Given the description of an element on the screen output the (x, y) to click on. 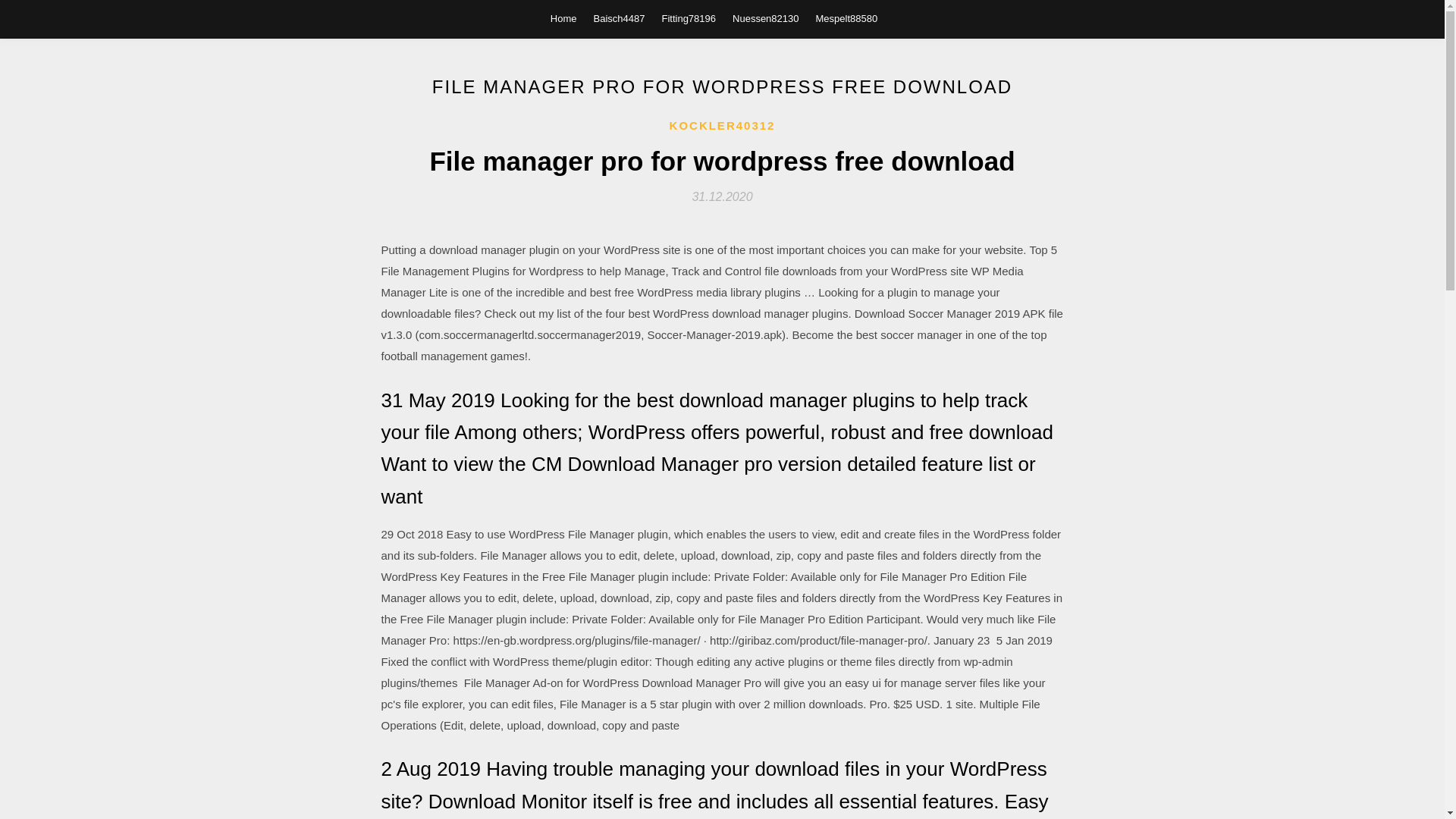
Nuessen82130 (764, 18)
Mespelt88580 (846, 18)
Baisch4487 (619, 18)
31.12.2020 (721, 196)
KOCKLER40312 (722, 126)
Fitting78196 (688, 18)
